Given the description of an element on the screen output the (x, y) to click on. 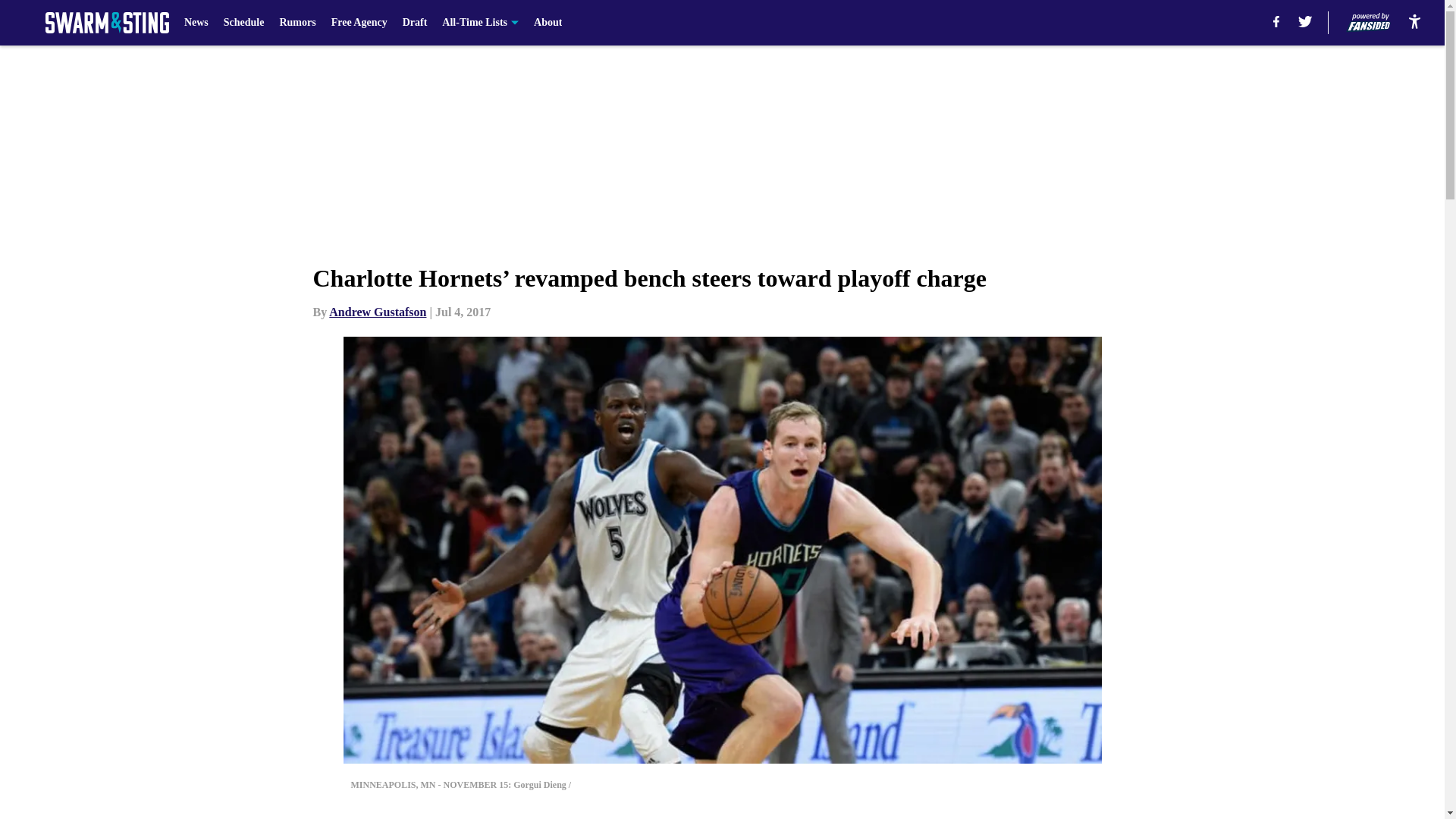
About (548, 22)
News (196, 22)
Schedule (244, 22)
All-Time Lists (480, 22)
Draft (415, 22)
Andrew Gustafson (377, 311)
Free Agency (359, 22)
Rumors (297, 22)
